Given the description of an element on the screen output the (x, y) to click on. 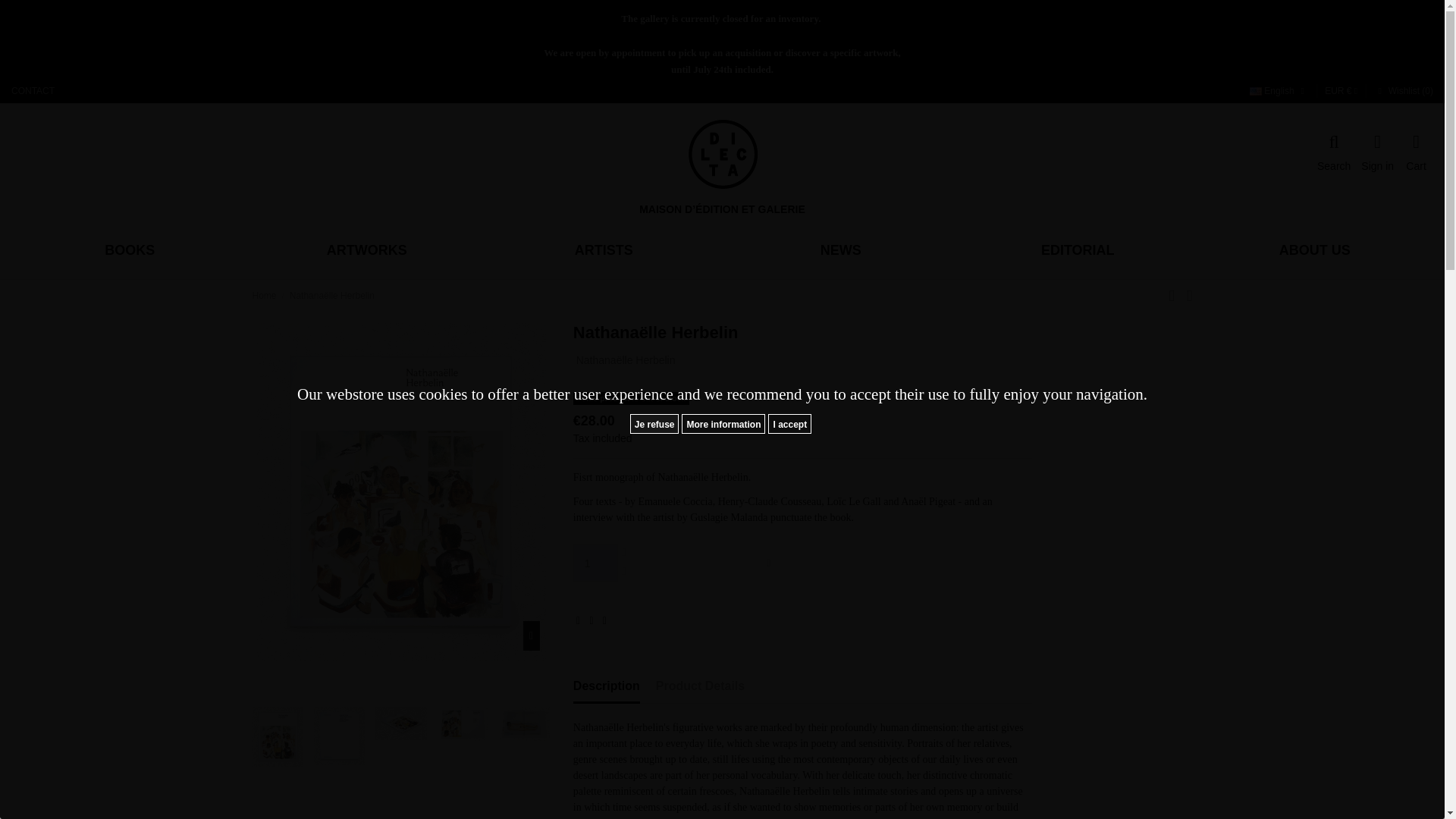
BOOKS (129, 250)
ARTISTS (603, 250)
EDITORIAL (1077, 250)
ARTWORKS (366, 250)
ABOUT US (1313, 250)
Cart (1416, 153)
1 (595, 562)
Search (1334, 153)
Sign in (1377, 153)
CONTACT (33, 90)
NEWS (840, 250)
Next product (1189, 294)
Previous product (1177, 294)
More information (723, 424)
English (1278, 90)
